Given the description of an element on the screen output the (x, y) to click on. 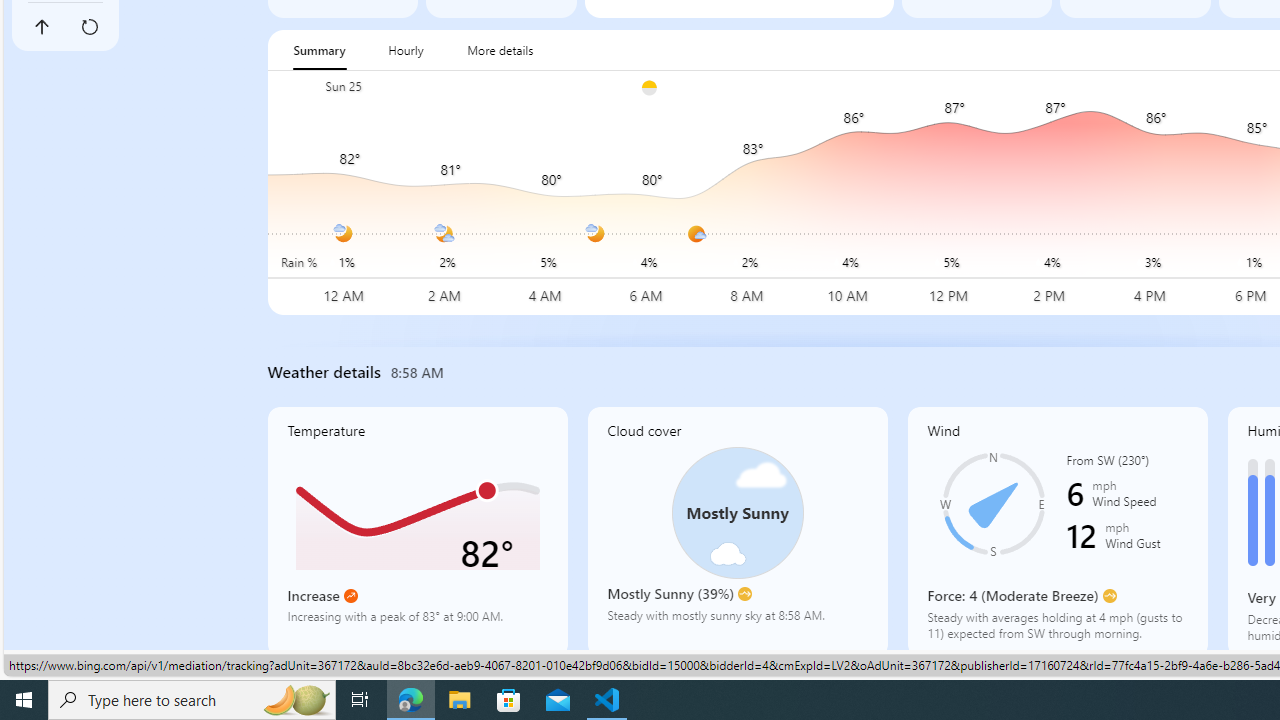
Summary (319, 49)
